Given the description of an element on the screen output the (x, y) to click on. 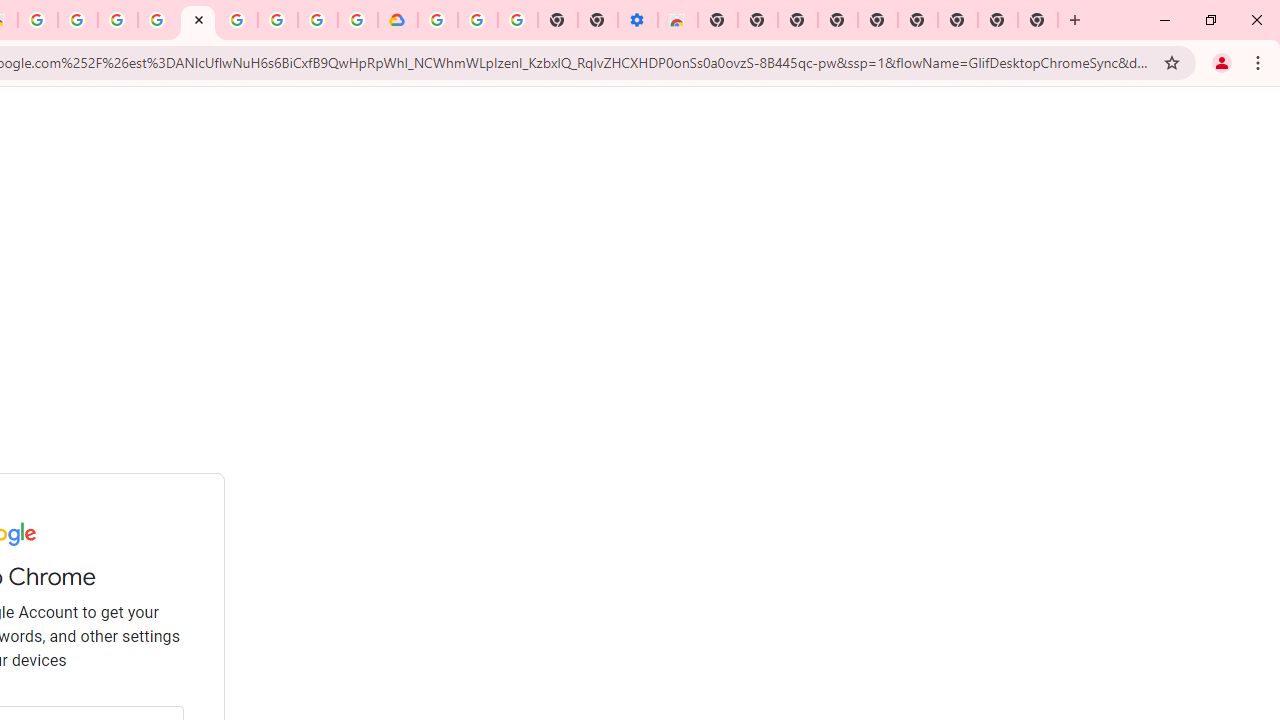
Ad Settings (157, 20)
Sign in - Google Accounts (438, 20)
Google Account Help (477, 20)
Chrome Web Store - Accessibility extensions (677, 20)
Turn cookies on or off - Computer - Google Account Help (517, 20)
Sign in - Google Accounts (197, 20)
Create your Google Account (77, 20)
New Tab (717, 20)
